Given the description of an element on the screen output the (x, y) to click on. 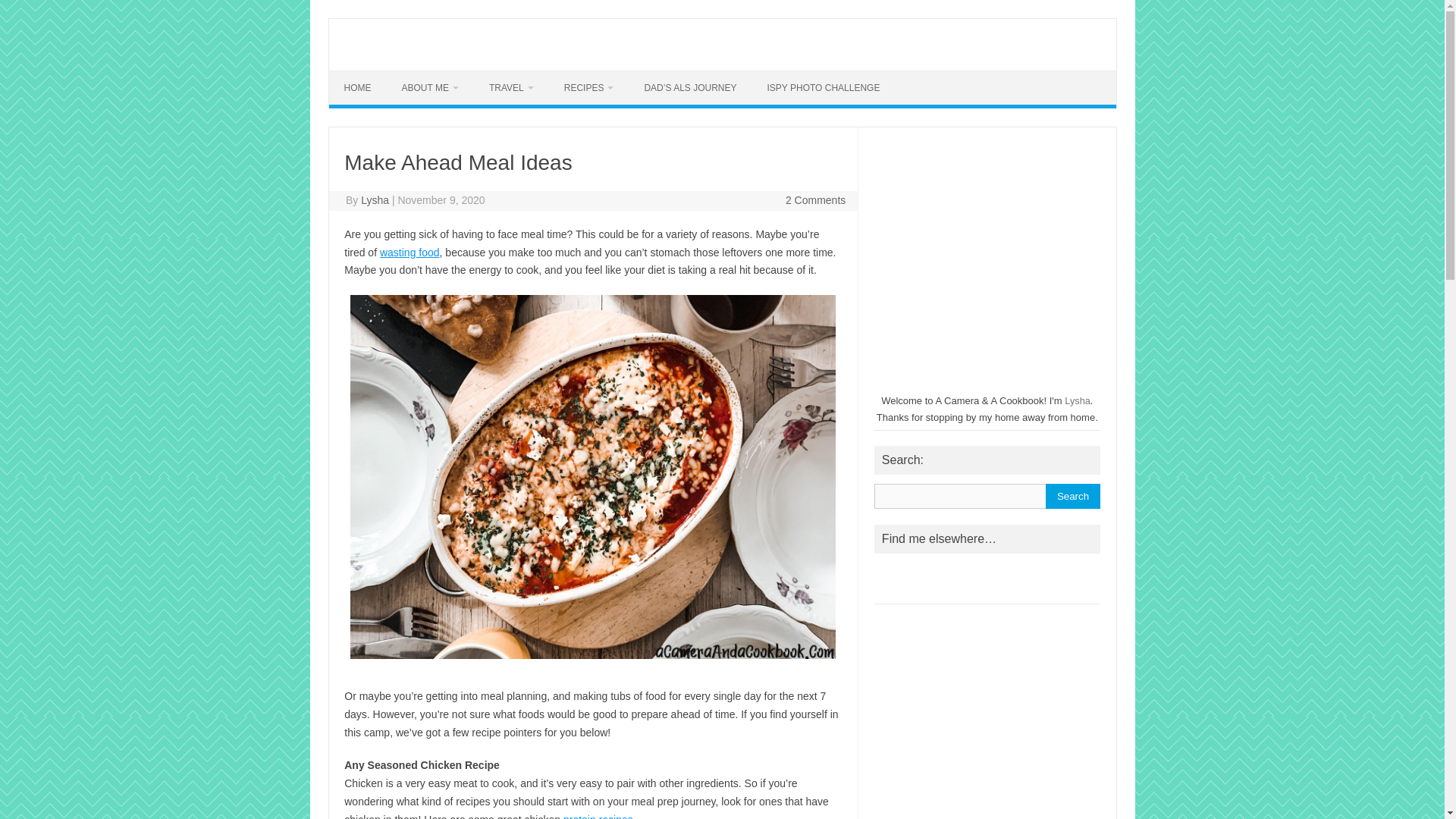
protein recipes (598, 816)
RECIPES (588, 87)
ABOUT ME (430, 87)
HOME (358, 87)
Lysha (374, 200)
TRAVEL (511, 87)
Advertisement (988, 718)
Posts by Lysha (374, 200)
wasting food (409, 252)
2 Comments (815, 200)
